Given the description of an element on the screen output the (x, y) to click on. 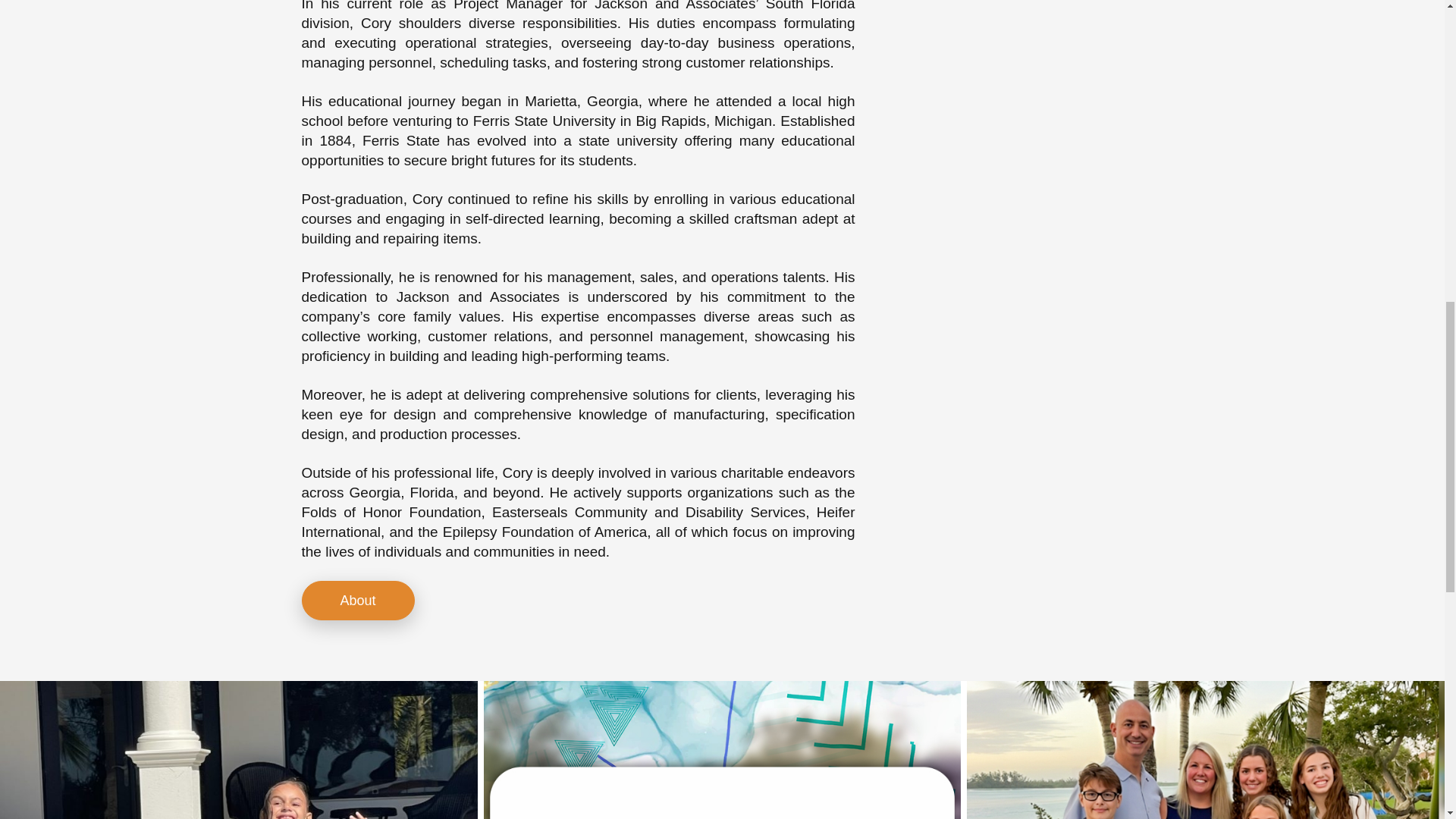
About (357, 599)
